Given the description of an element on the screen output the (x, y) to click on. 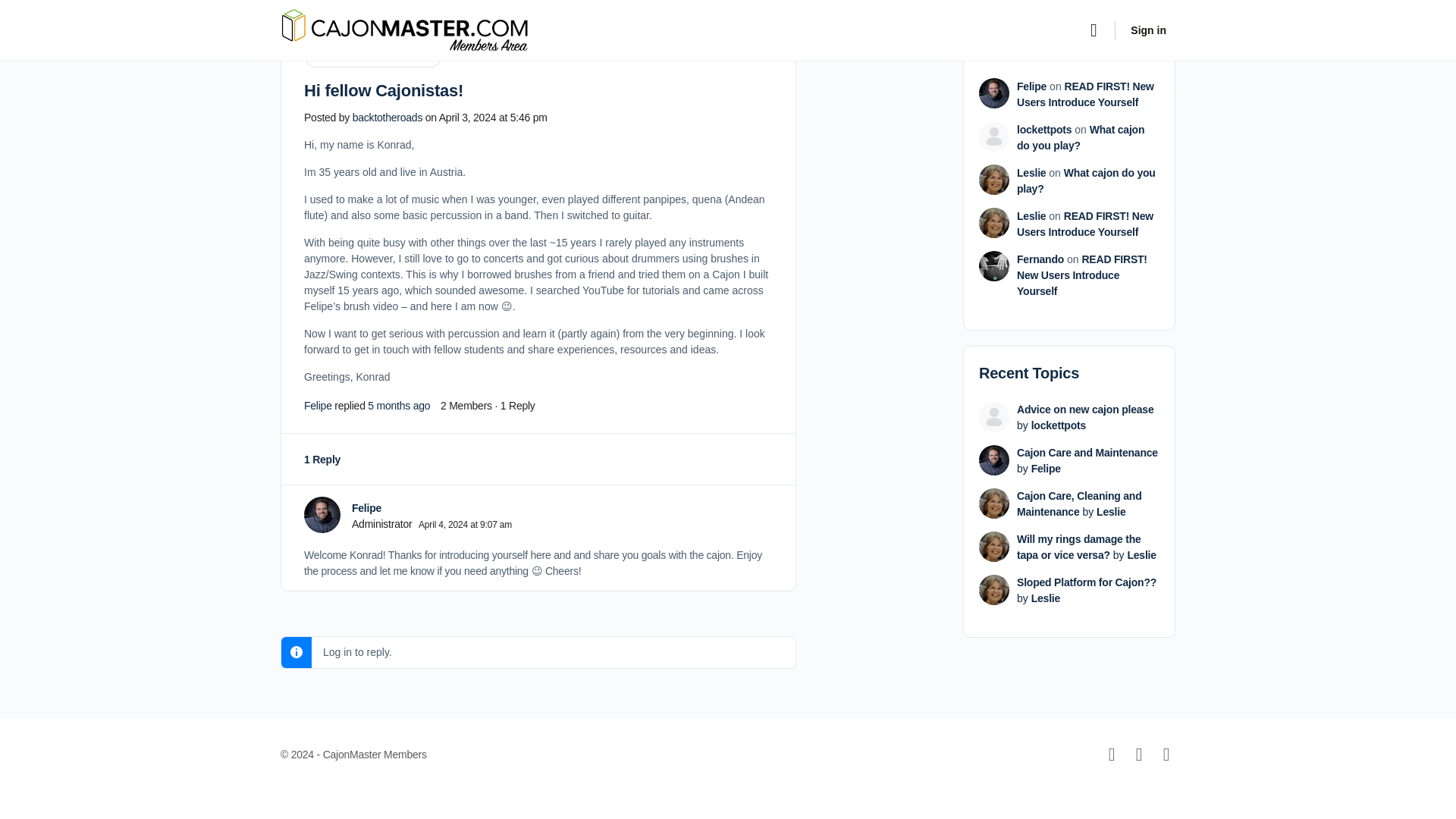
Log In to Reply (878, 38)
READ FIRST! New Users Introduce Yourself (1085, 94)
5 months ago (398, 405)
Reply To: Hi fellow Cajonistas! (398, 405)
backtotheroads (387, 117)
View backtotheroads's profile (387, 117)
View Felipe's profile (317, 405)
Felipe (1031, 86)
View Felipe's profile (366, 508)
View Felipe's profile (322, 514)
